Given the description of an element on the screen output the (x, y) to click on. 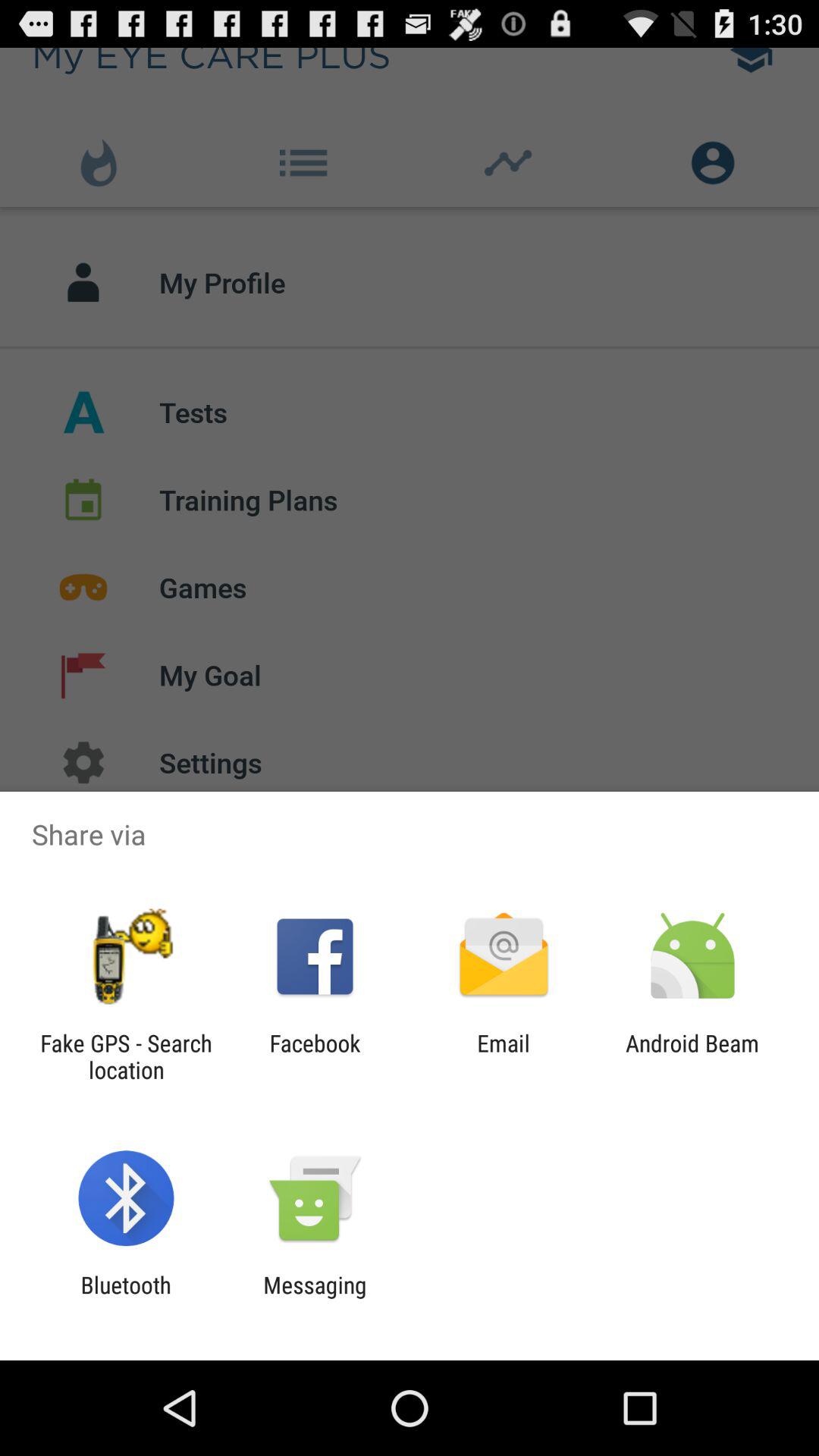
choose bluetooth app (125, 1298)
